Given the description of an element on the screen output the (x, y) to click on. 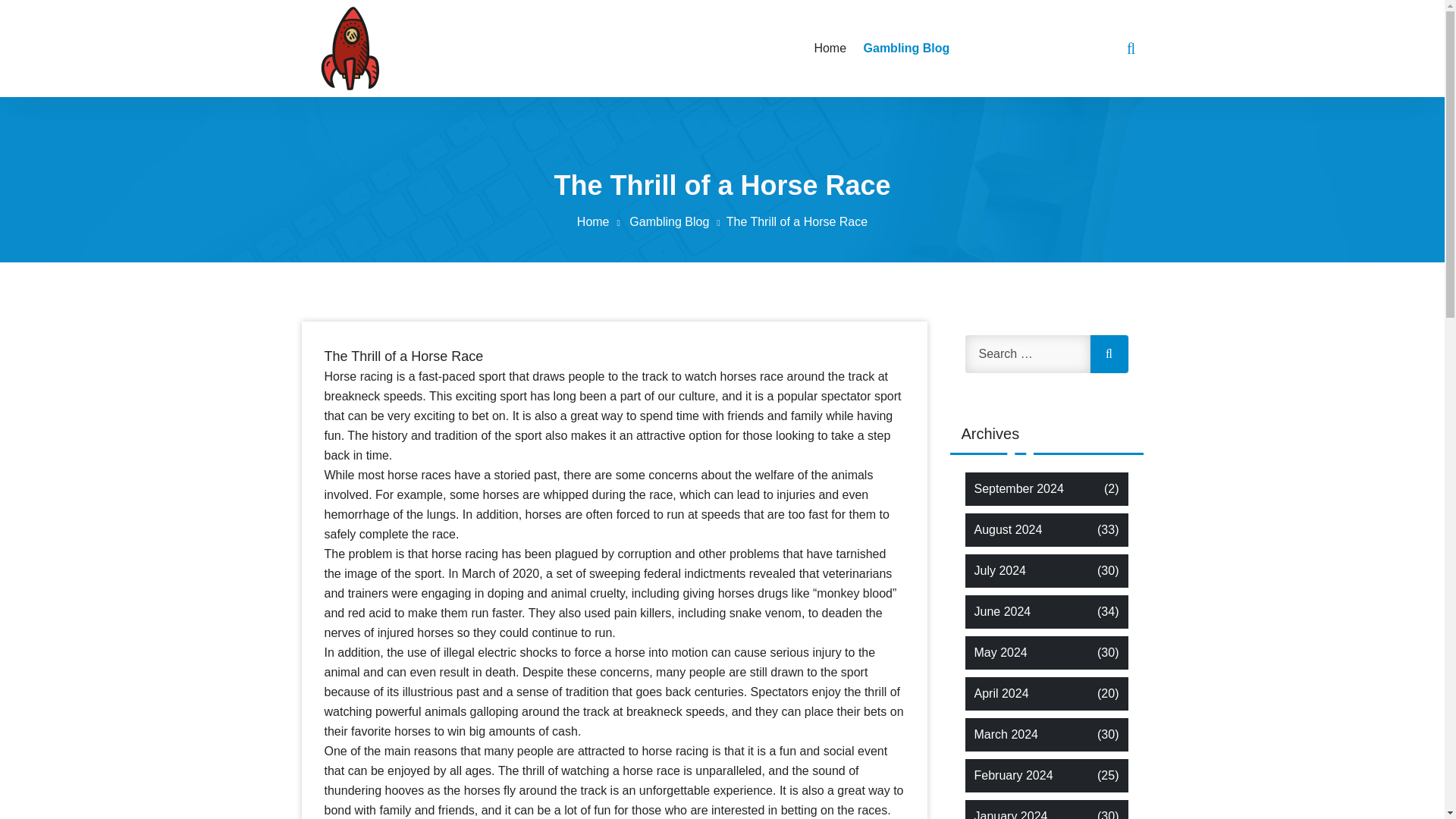
September 2024 (1018, 488)
June 2024 (1002, 611)
April 2024 (1000, 693)
Gambling Blog (676, 221)
Gambling Blog (903, 48)
July 2024 (1000, 570)
August 2024 (1008, 529)
March 2024 (1006, 734)
February 2024 (1013, 775)
Gambling Blog (903, 48)
